Given the description of an element on the screen output the (x, y) to click on. 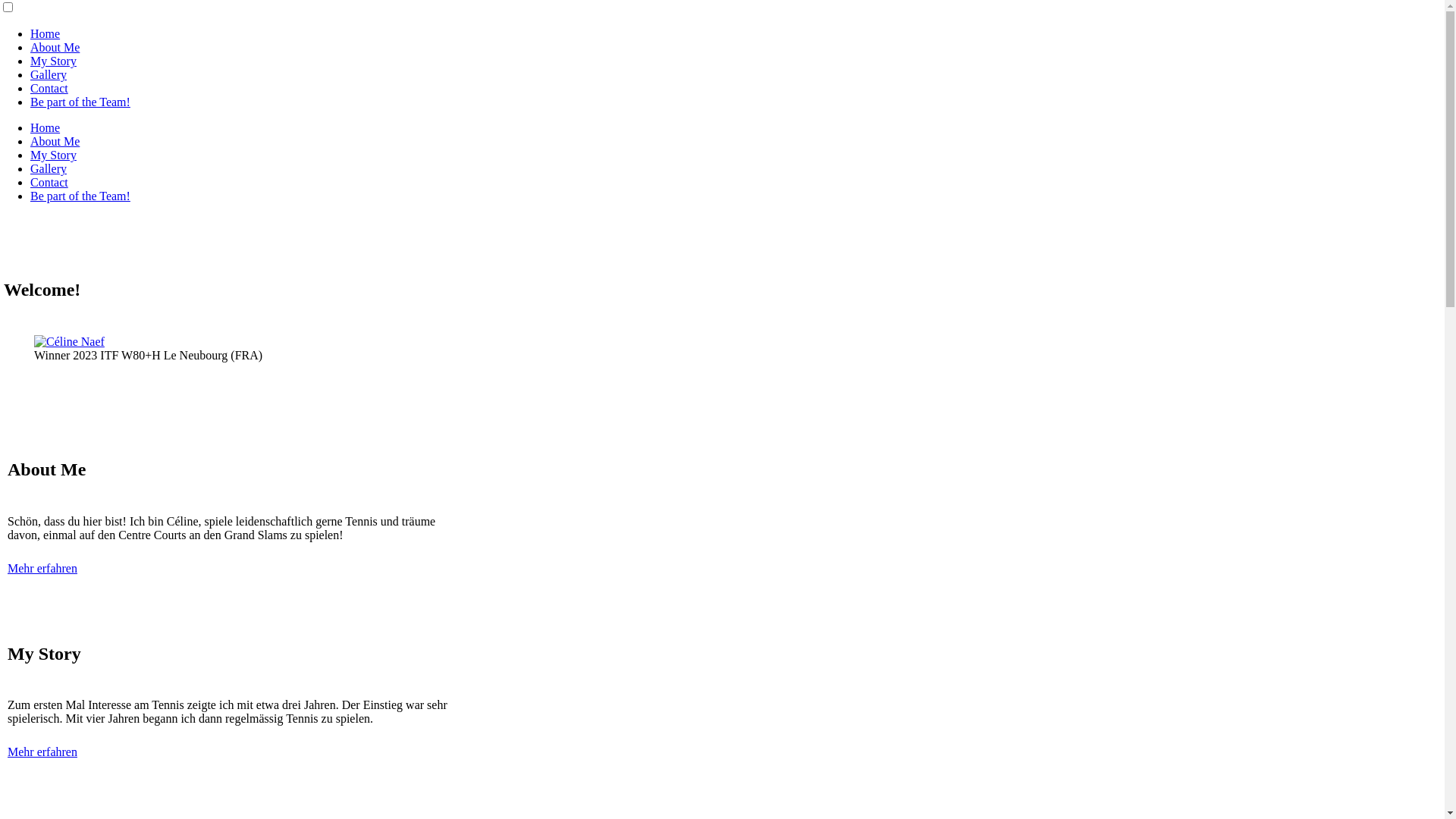
About Me Element type: text (54, 140)
Be part of the Team! Element type: text (80, 101)
Be part of the Team! Element type: text (80, 195)
Contact Element type: text (49, 181)
About Me Element type: text (54, 46)
Mehr erfahren Element type: text (42, 751)
My Story Element type: text (53, 60)
Mehr erfahren Element type: text (42, 567)
Gallery Element type: text (48, 74)
Home Element type: text (44, 33)
Contact Element type: text (49, 87)
My Story Element type: text (53, 154)
Gallery Element type: text (48, 168)
Home Element type: text (44, 127)
